Given the description of an element on the screen output the (x, y) to click on. 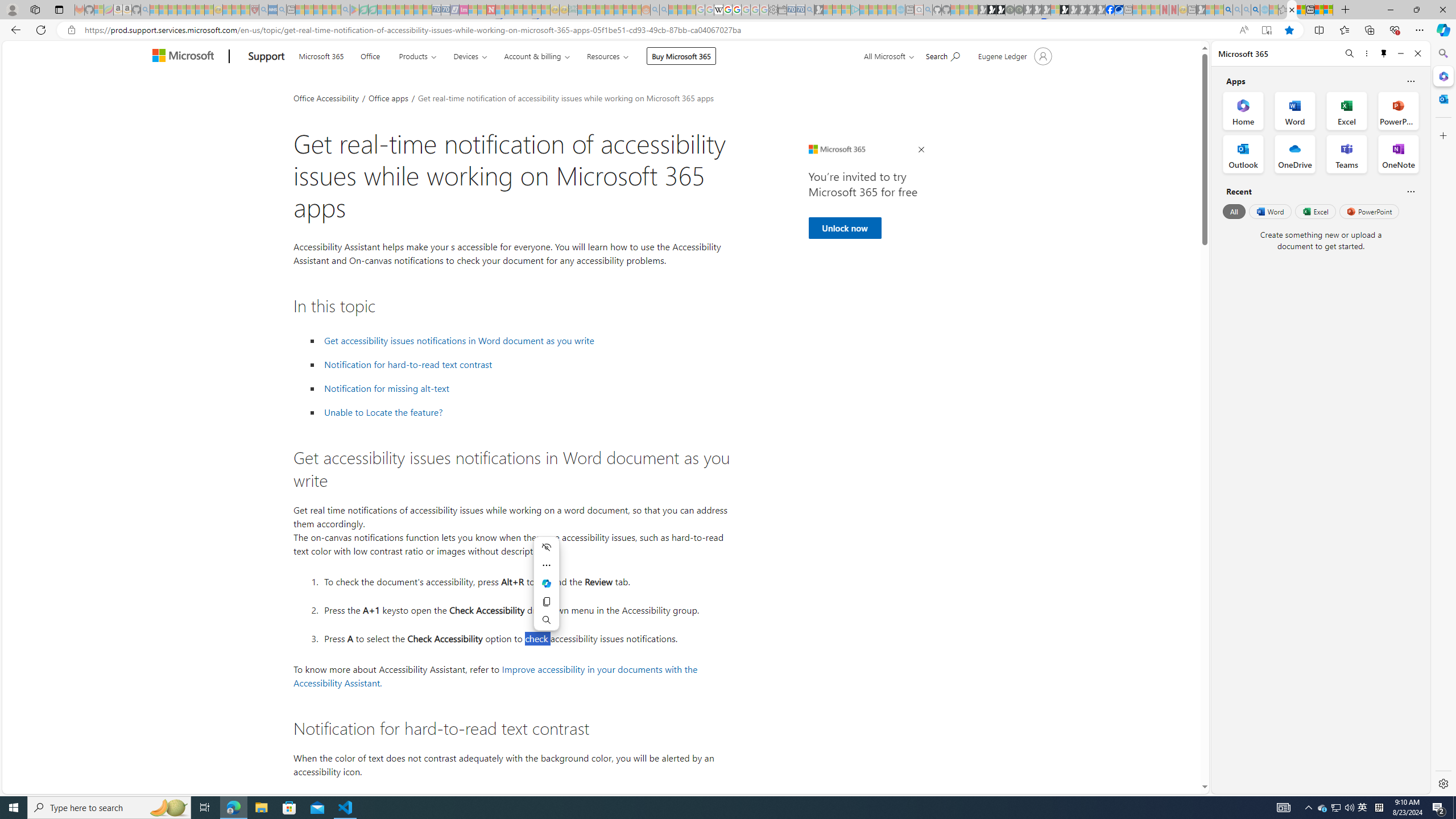
Mini menu on text selection (545, 590)
Excel Office App (1346, 110)
